Given the description of an element on the screen output the (x, y) to click on. 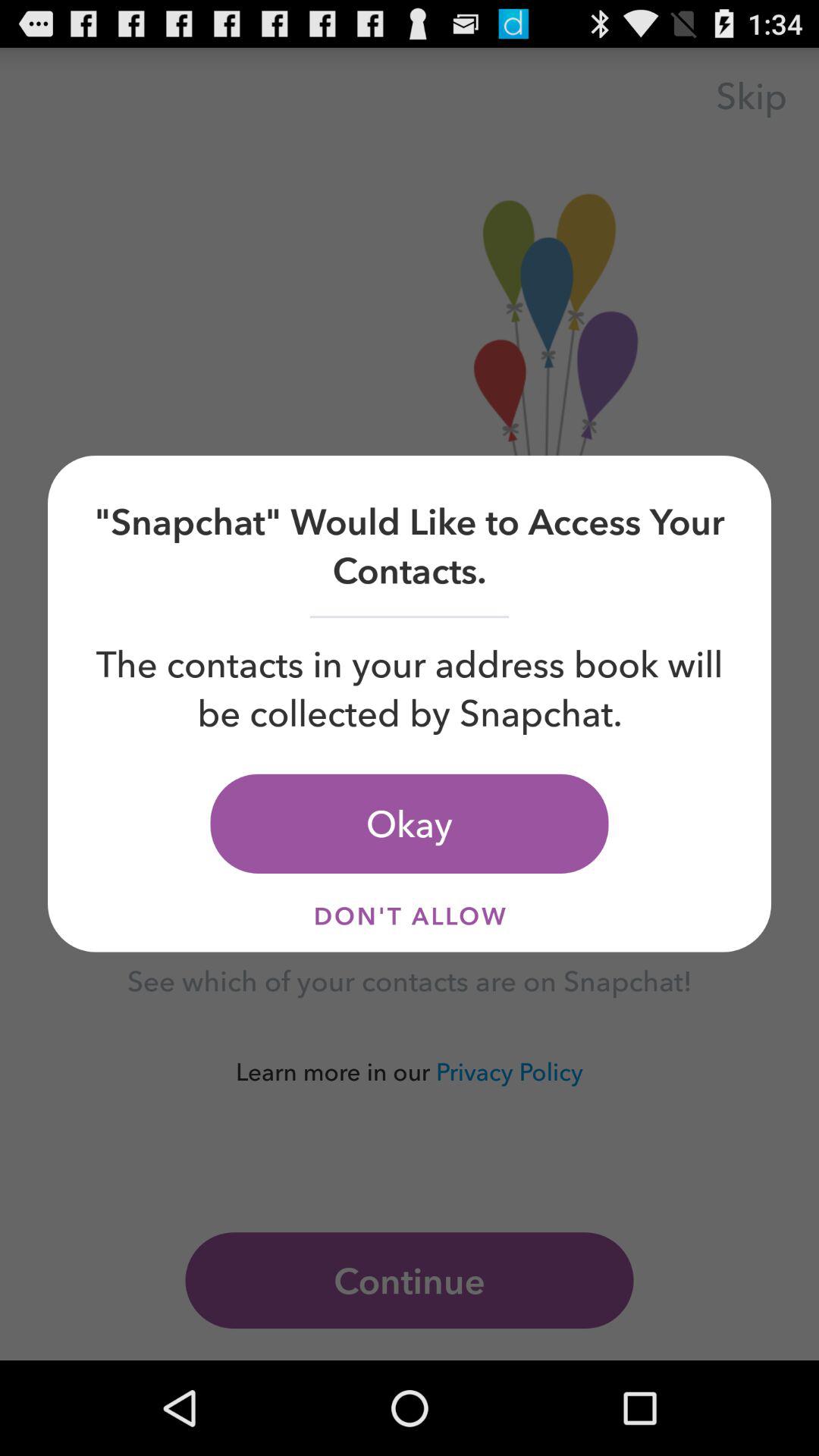
tap the okay icon (409, 823)
